Given the description of an element on the screen output the (x, y) to click on. 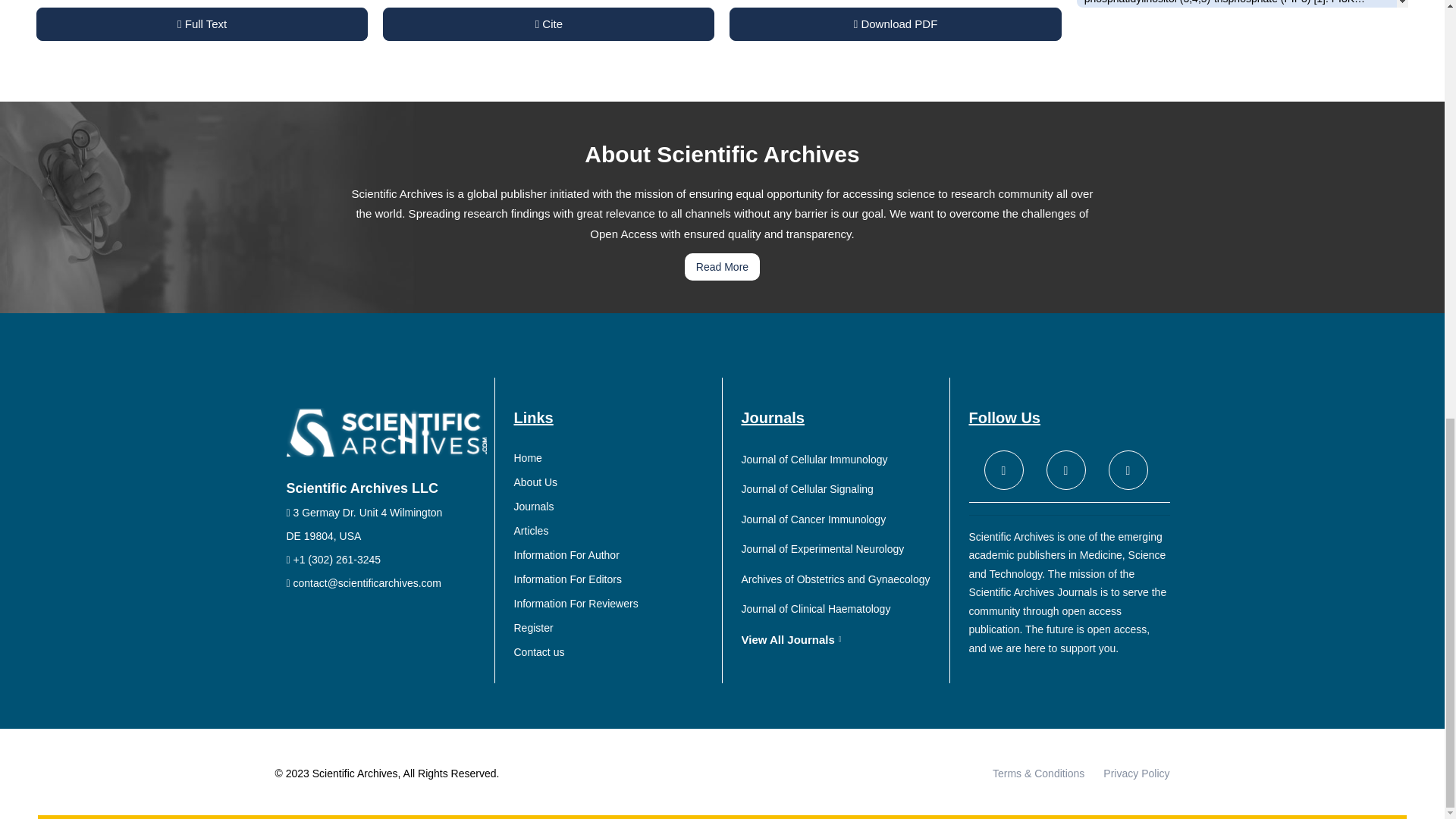
Home (613, 458)
Journals (613, 506)
Reviewers Guidelines (613, 603)
Articles (613, 530)
Contact us (613, 652)
Author Guidelines (613, 555)
Editor Guidelines (613, 579)
Register (613, 627)
About Us (613, 482)
